Given the description of an element on the screen output the (x, y) to click on. 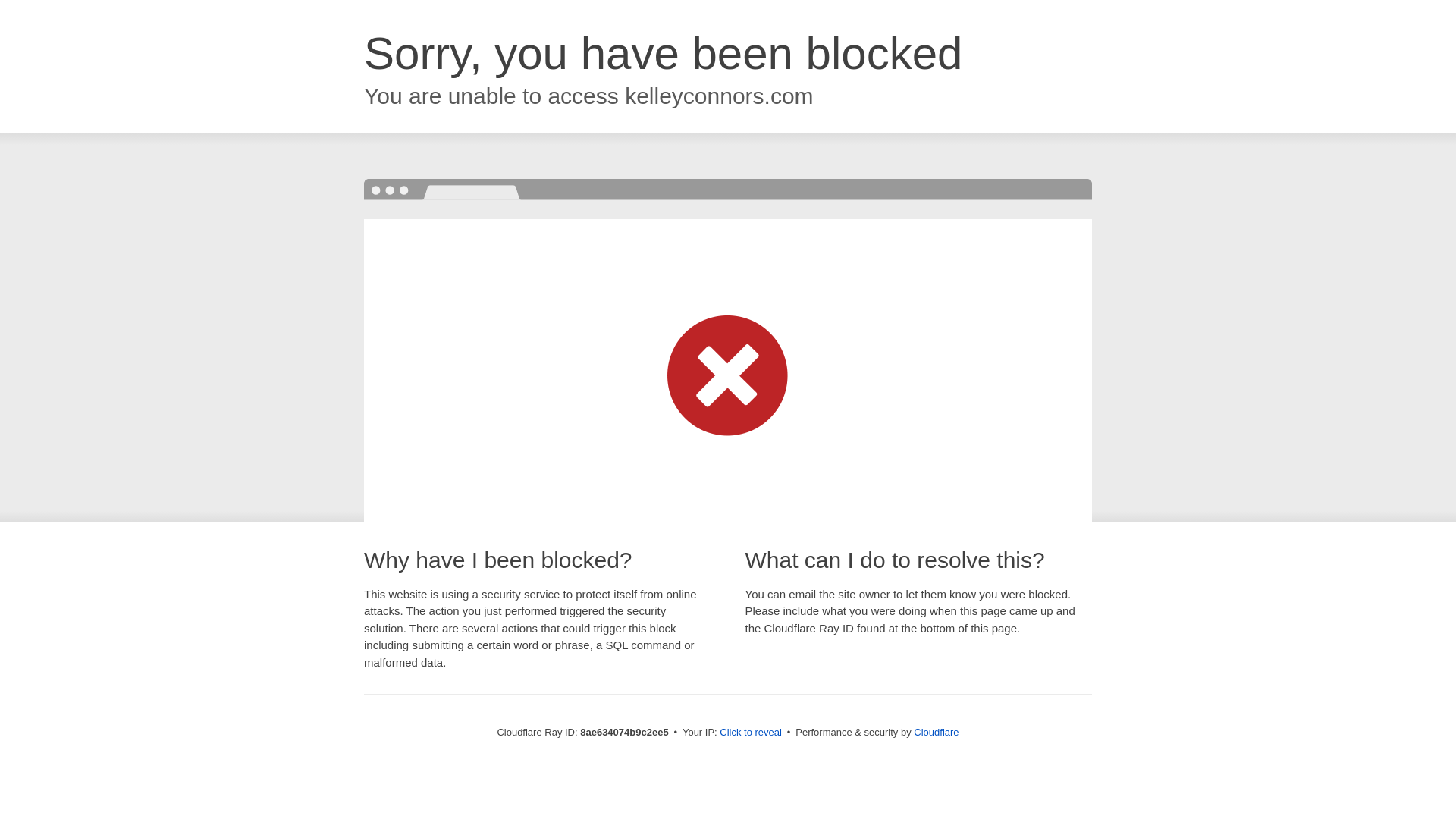
Cloudflare (936, 731)
Click to reveal (750, 732)
